Given the description of an element on the screen output the (x, y) to click on. 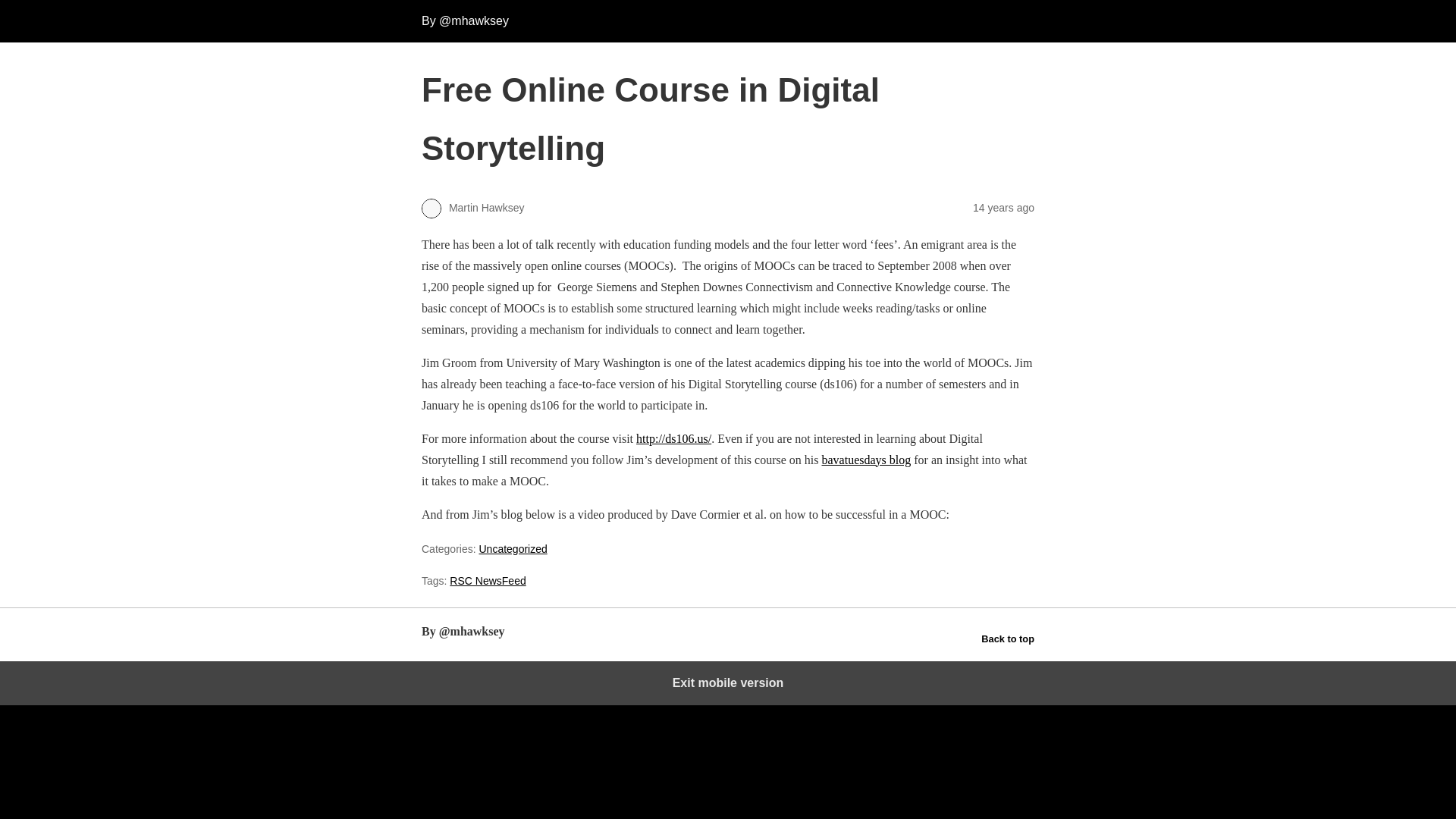
RSC NewsFeed (487, 580)
bavatuesdays blog (866, 459)
Uncategorized (513, 548)
Back to top (1007, 639)
